Given the description of an element on the screen output the (x, y) to click on. 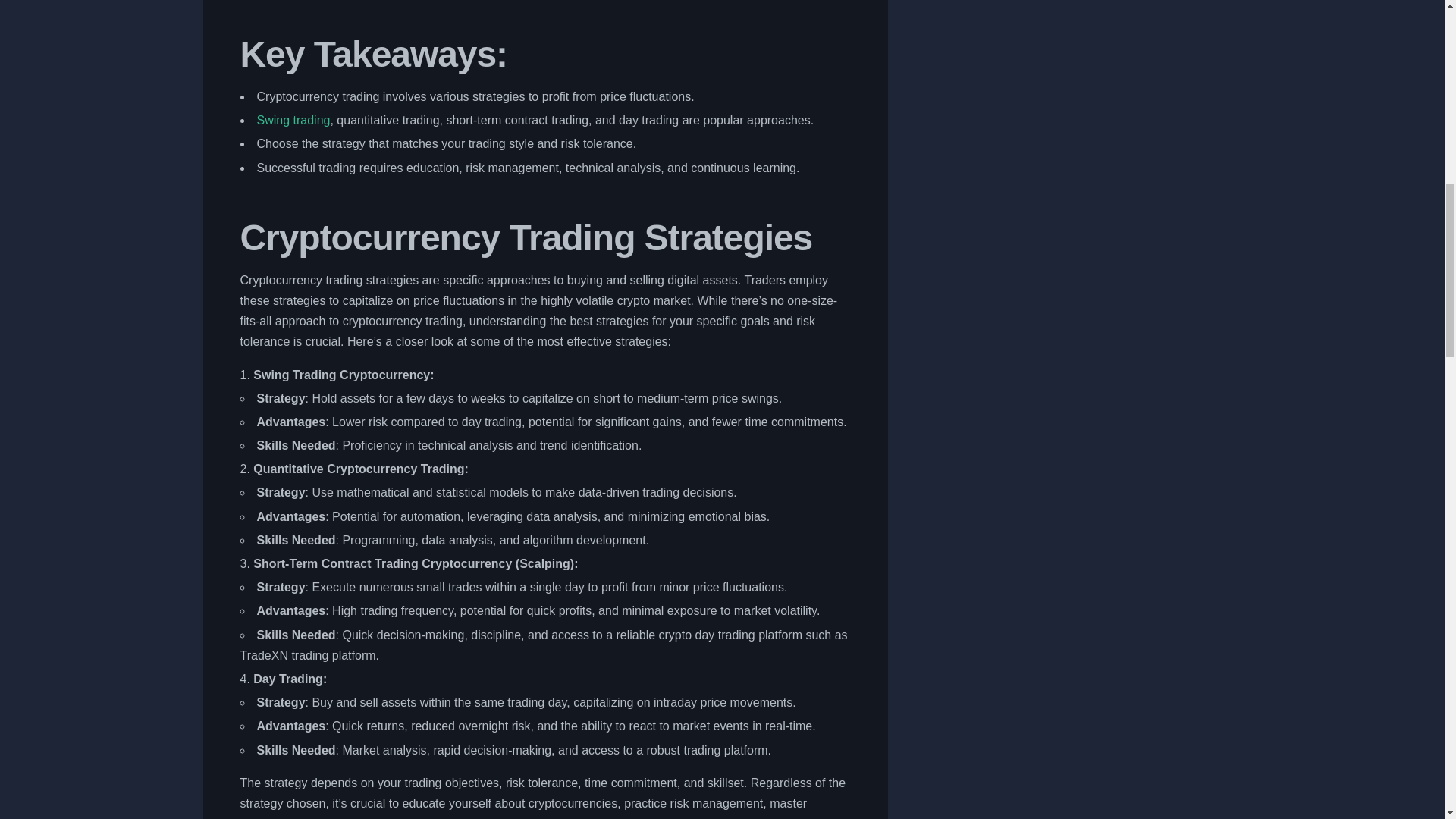
Swing trading (293, 119)
